Given the description of an element on the screen output the (x, y) to click on. 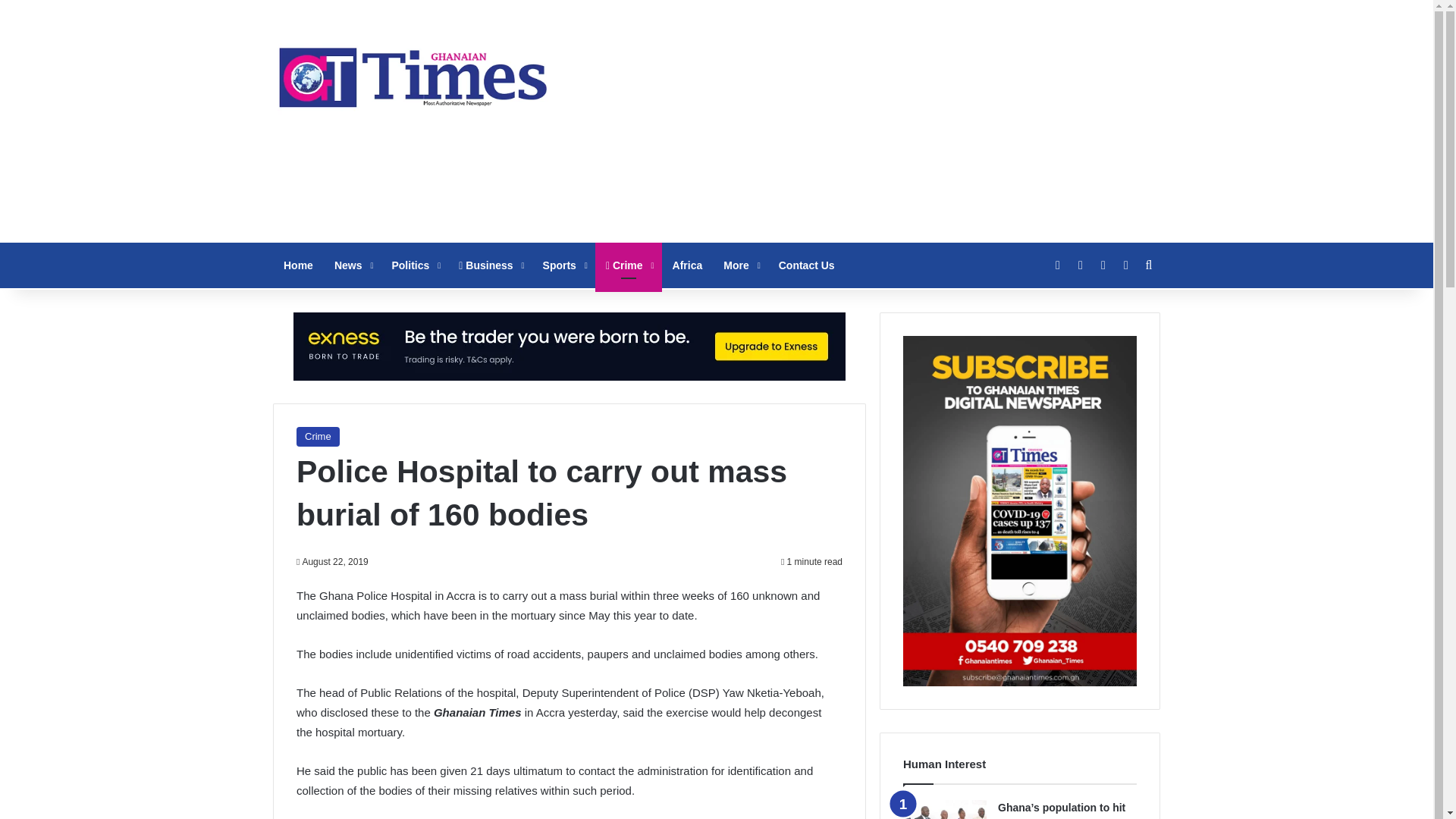
More (740, 265)
Sports (563, 265)
Crime (628, 265)
Ghanaian Times (413, 72)
News (352, 265)
Contact Us (806, 265)
Africa (687, 265)
Crime (318, 436)
Politics (414, 265)
Home (298, 265)
